Given the description of an element on the screen output the (x, y) to click on. 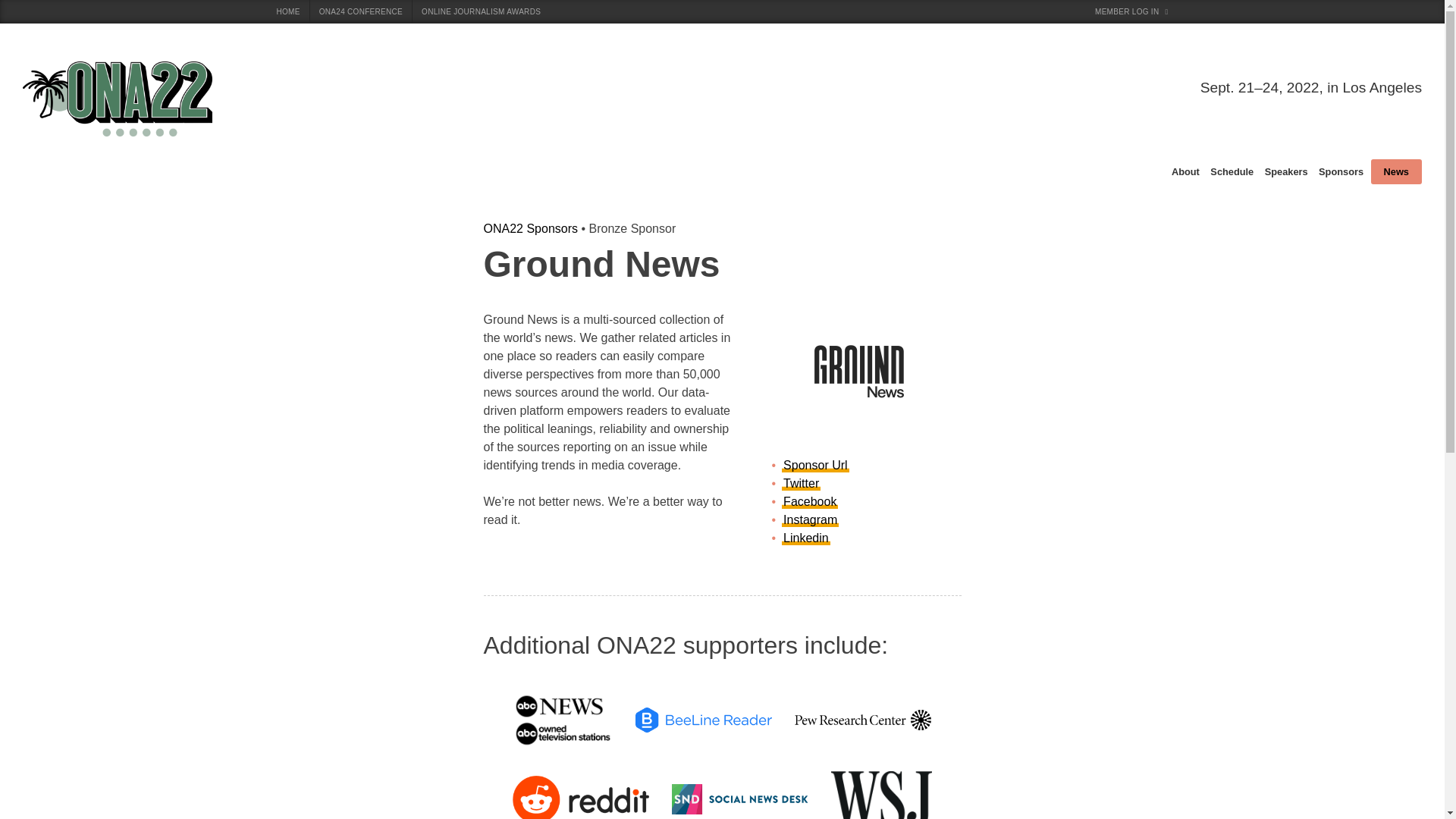
Instagram (809, 520)
About (1185, 171)
MEMBER LOG IN (1131, 11)
ONA24 CONFERENCE (361, 11)
Linkedin (805, 538)
Twitter (801, 483)
Schedule (1232, 171)
HOME (287, 11)
ONLINE JOURNALISM AWARDS (481, 11)
Sponsors (1340, 171)
